Given the description of an element on the screen output the (x, y) to click on. 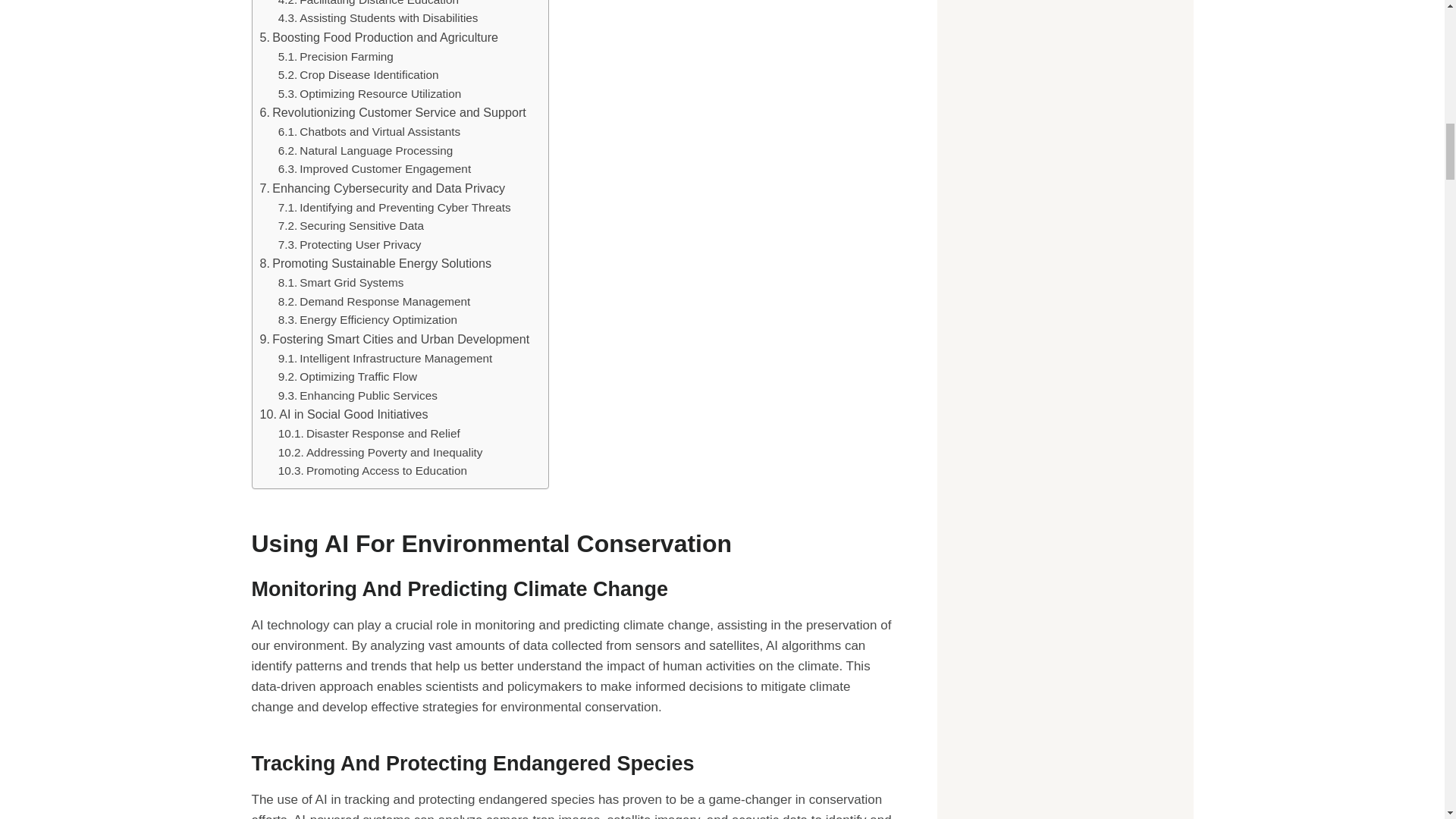
Enhancing Cybersecurity and Data Privacy (382, 189)
Crop Disease Identification (358, 75)
Assisting Students with Disabilities (378, 18)
Precision Farming (335, 56)
Boosting Food Production and Agriculture (378, 37)
Natural Language Processing (365, 150)
Improved Customer Engagement (374, 169)
Optimizing Resource Utilization (369, 94)
Facilitating Distance Education (368, 4)
Facilitating Distance Education (368, 4)
Assisting Students with Disabilities (378, 18)
Identifying and Preventing Cyber Threats (394, 208)
Boosting Food Production and Agriculture (378, 37)
Securing Sensitive Data (350, 226)
Revolutionizing Customer Service and Support (392, 112)
